Given the description of an element on the screen output the (x, y) to click on. 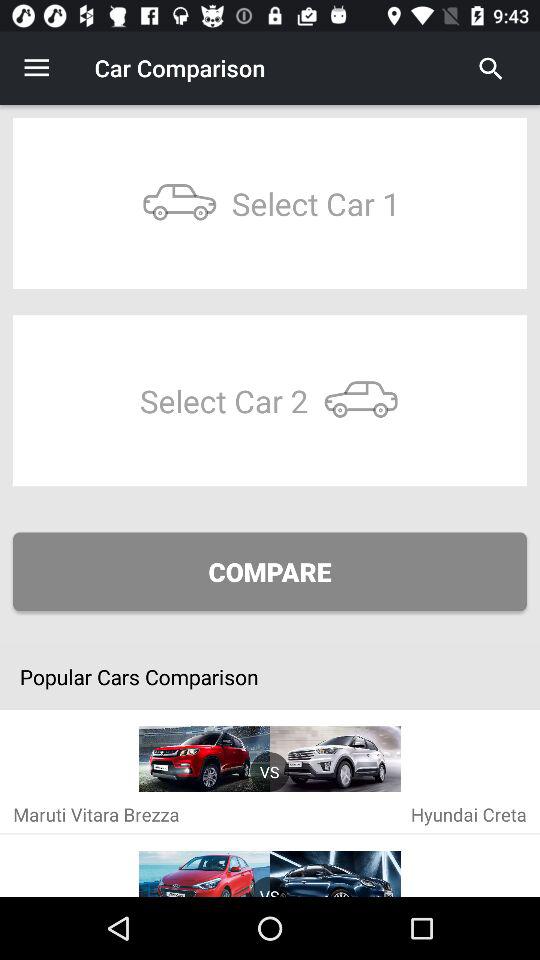
click on the icon right to select car 2 (360, 400)
click on compare (269, 571)
